Given the description of an element on the screen output the (x, y) to click on. 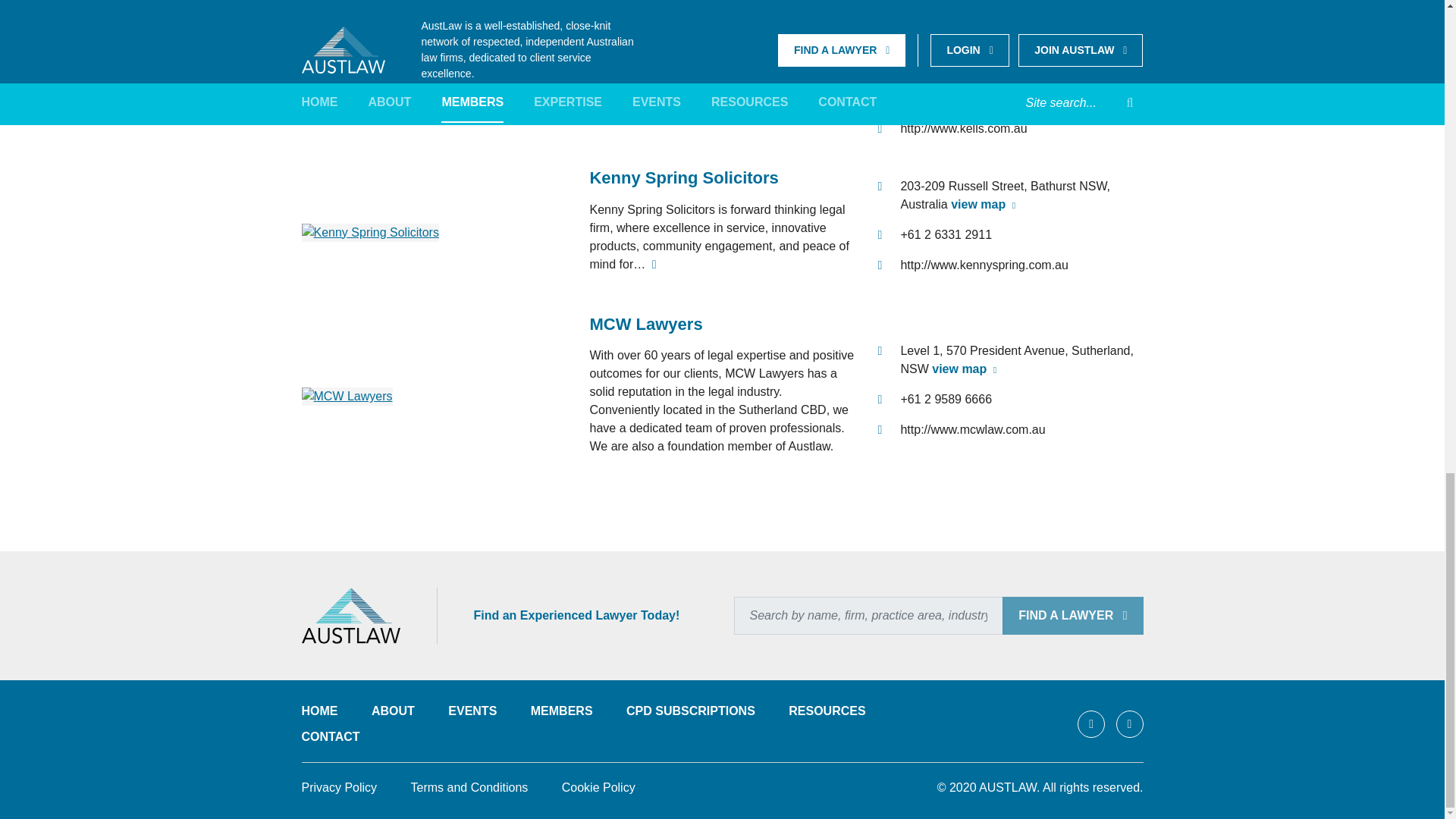
MCW Lawyers (347, 395)
Kells (608, 49)
Kells (320, 94)
1800 247 631 (936, 97)
Kells (608, 49)
Kenny Spring Solicitors (683, 177)
MCW Lawyers (645, 323)
view map (963, 67)
Kenny Spring Solicitors (370, 231)
